Given the description of an element on the screen output the (x, y) to click on. 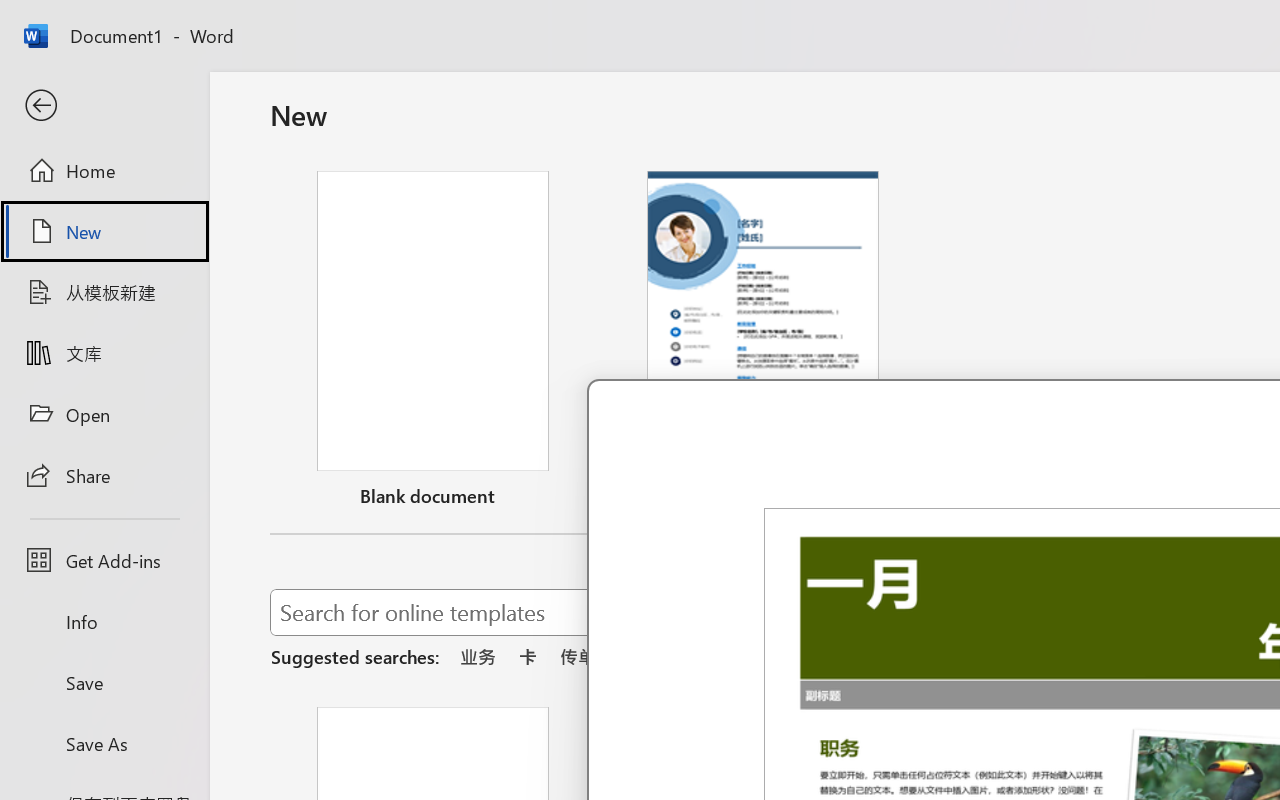
Back (104, 106)
Start searching (1178, 612)
Unpin from list (893, 499)
